Given the description of an element on the screen output the (x, y) to click on. 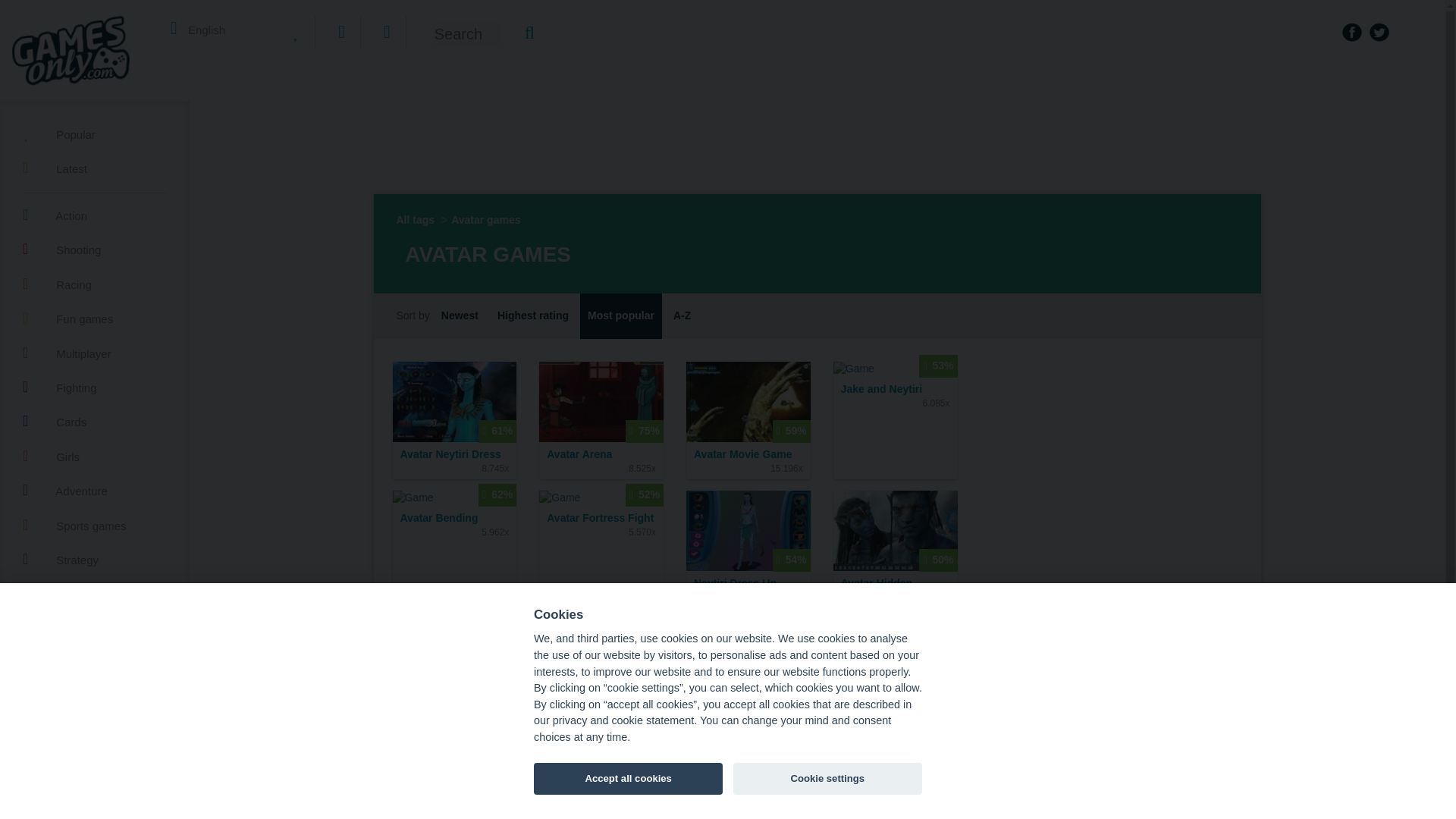
Role playing (60, 714)
Multiplayer (95, 352)
Racing (95, 282)
Strategy (95, 558)
Make up game (66, 816)
Penguin (120, 788)
English (197, 28)
Shooting (95, 248)
Sports games (95, 524)
Puzzle (95, 592)
